Given the description of an element on the screen output the (x, y) to click on. 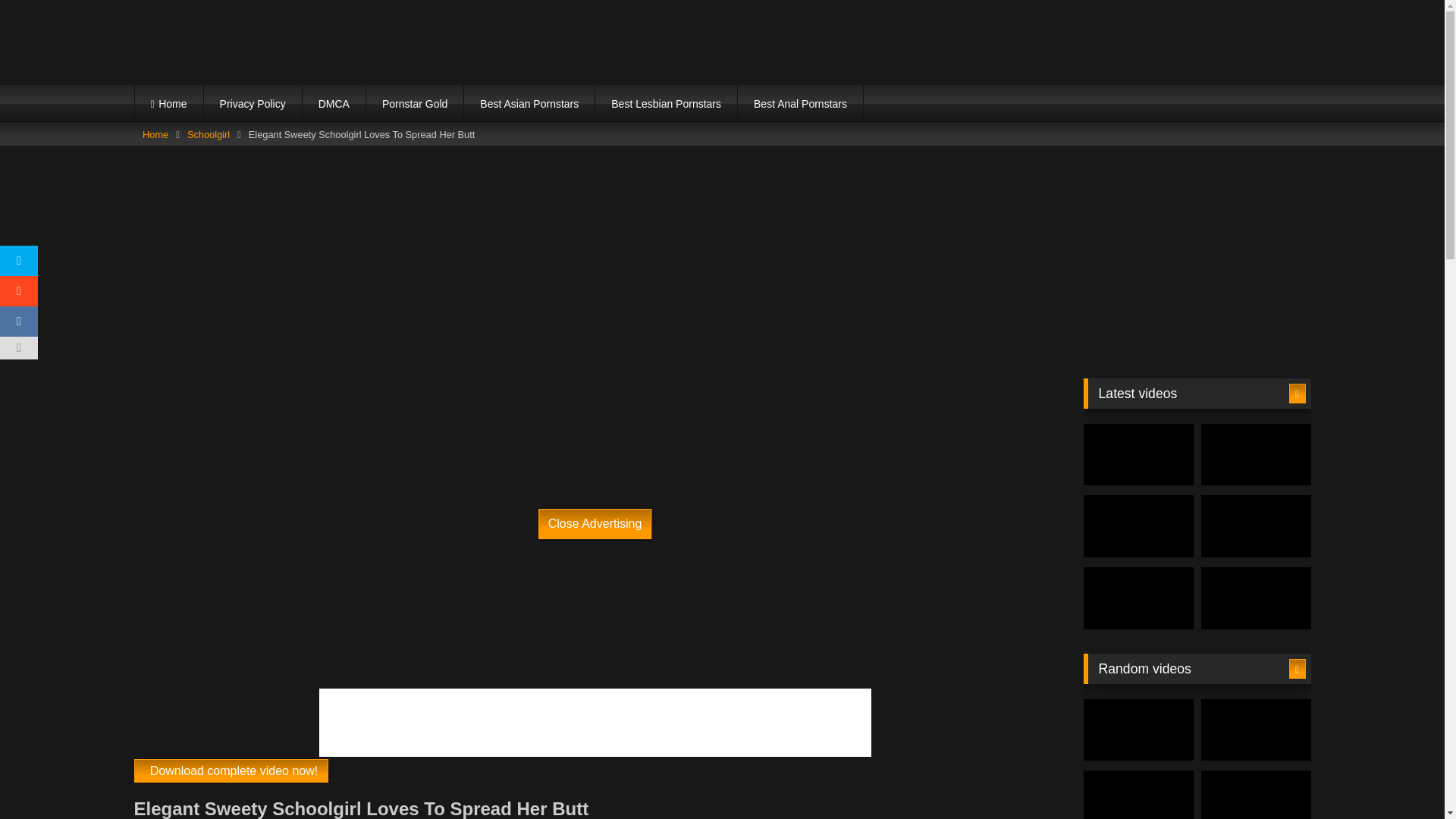
RolePlay Star (265, 41)
Home (155, 134)
Elegant Sweety Schoolgirl Loves To Spread Her Butt (231, 770)
Best Anal Pornstars (800, 103)
Download complete video now! (231, 770)
Pornstar Gold (414, 103)
Best Lesbian Pornstars (665, 103)
Schoolgirl (208, 134)
Home (169, 103)
Privacy Policy (252, 103)
DMCA (333, 103)
Close Advertising (595, 523)
Best Asian Pornstars (529, 103)
